Given the description of an element on the screen output the (x, y) to click on. 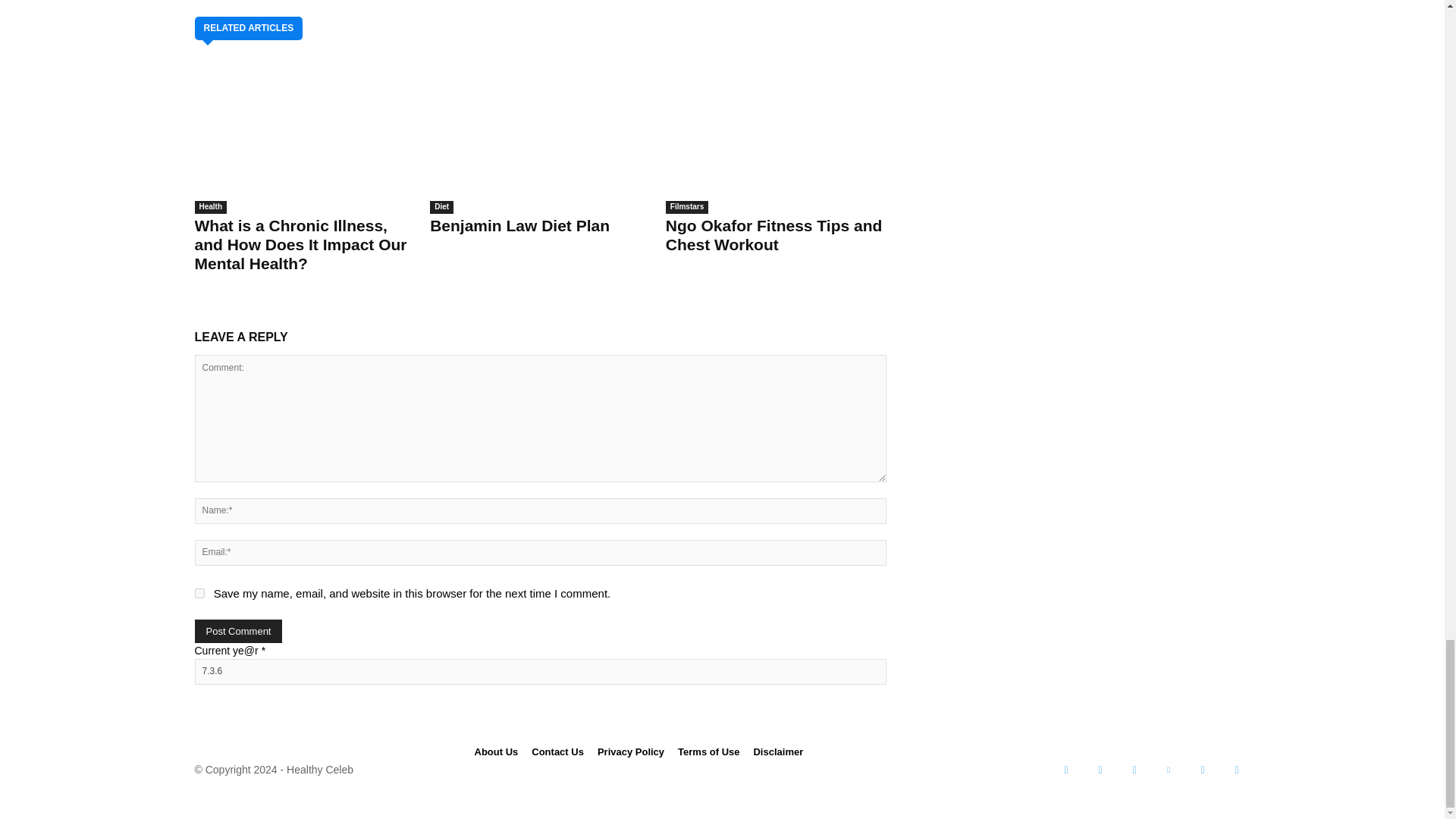
yes (198, 593)
Post Comment (237, 630)
7.3.6 (539, 670)
